Given the description of an element on the screen output the (x, y) to click on. 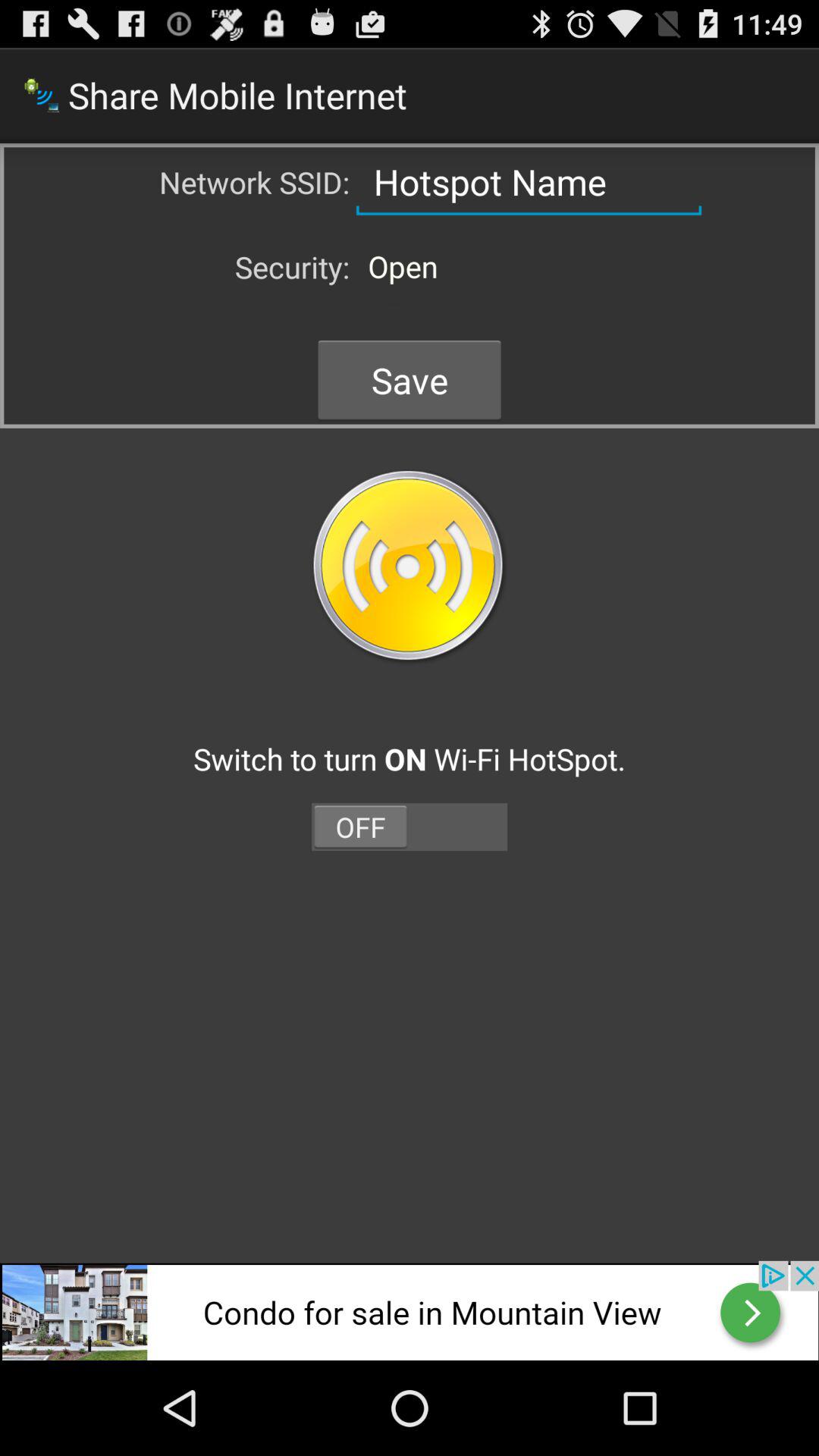
record button (409, 567)
